Given the description of an element on the screen output the (x, y) to click on. 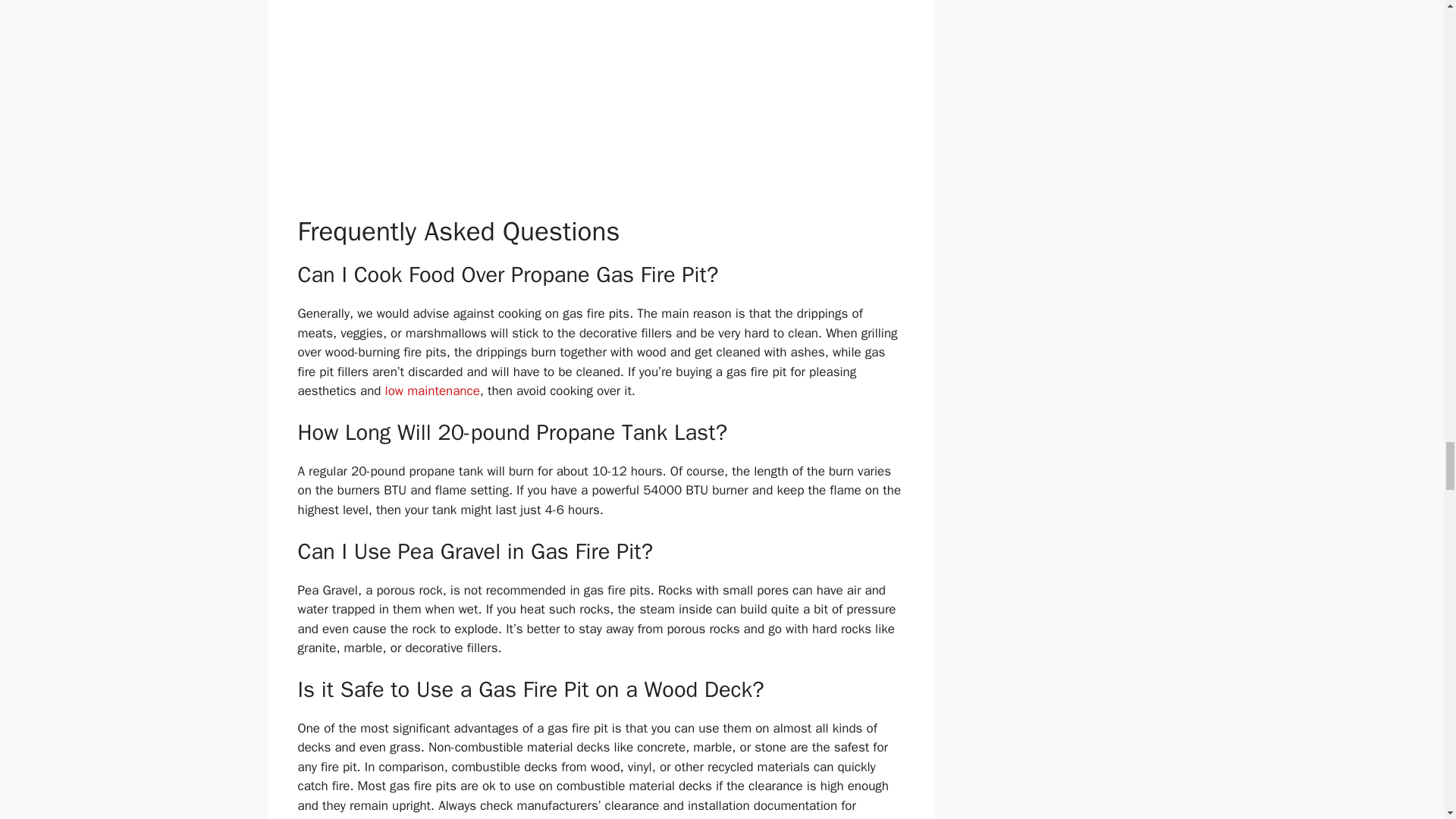
low maintenance (432, 390)
FIRE PIT MAT (643, 817)
